Given the description of an element on the screen output the (x, y) to click on. 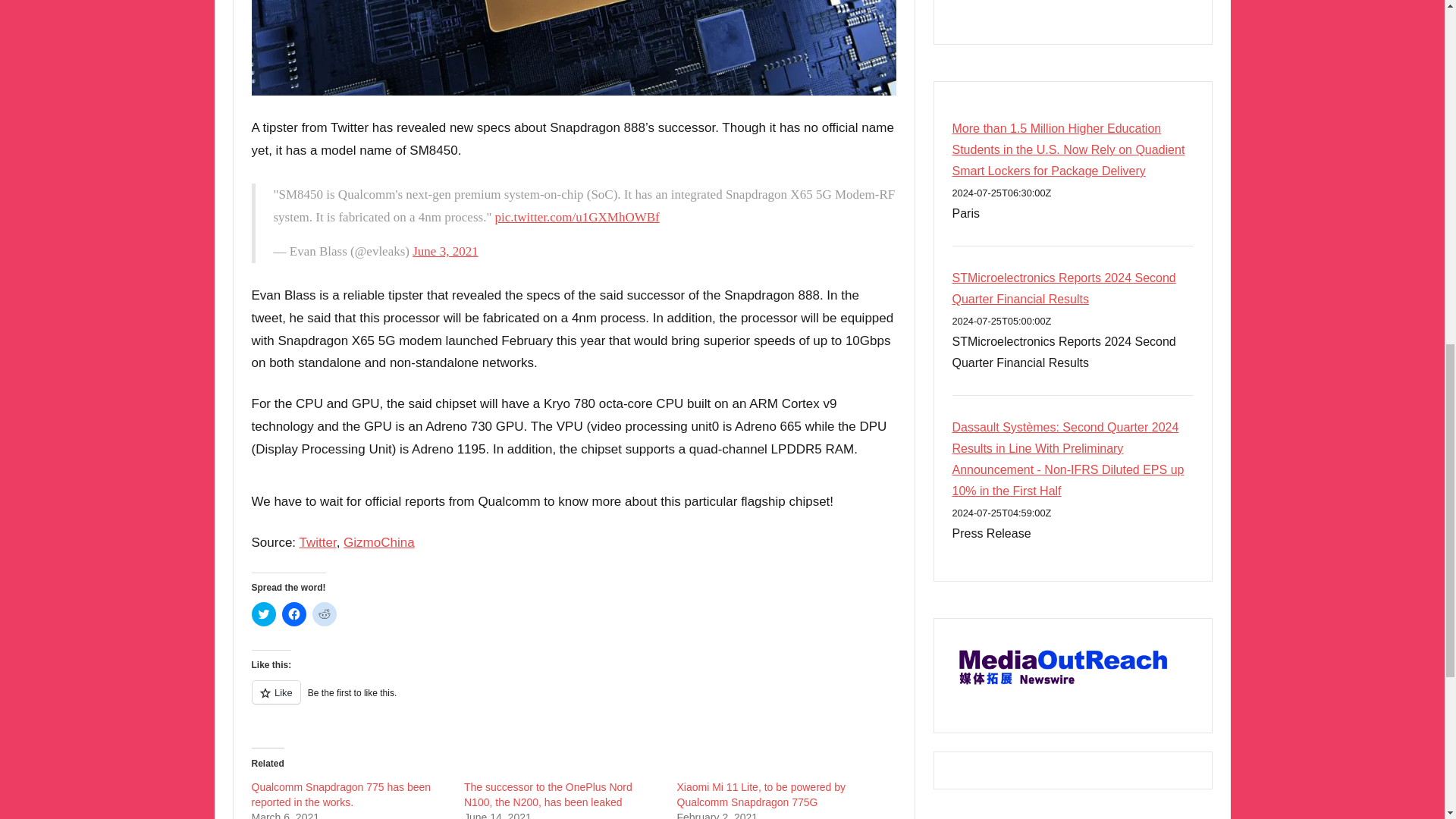
GizmoChina (378, 542)
Like or Reblog (573, 700)
Qualcomm Snapdragon 775 has been reported in the works. (340, 794)
Xiaomi Mi 11 Lite, to be powered by Qualcomm Snapdragon 775G (761, 794)
Twitter (317, 542)
Click to share on Facebook (293, 613)
Click to share on Reddit (324, 613)
Xiaomi Mi 11 Lite, to be powered by Qualcomm Snapdragon 775G (761, 794)
Click to share on Twitter (263, 613)
June 3, 2021 (444, 251)
Qualcomm Snapdragon 775 has been reported in the works. (340, 794)
